Given the description of an element on the screen output the (x, y) to click on. 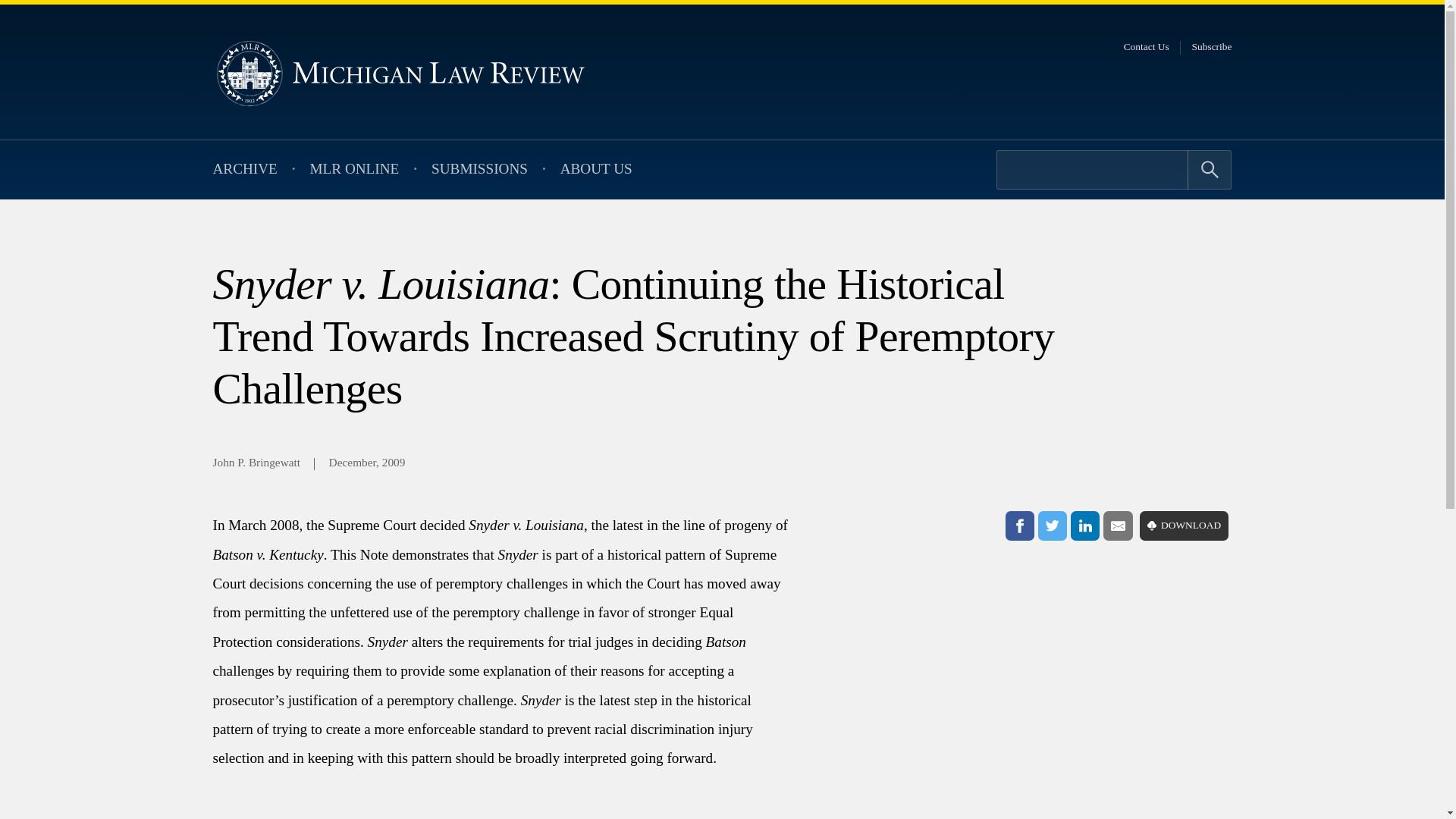
MLR ONLINE (354, 169)
Twitter (1052, 525)
Facebook (1019, 525)
DOWNLOAD (1184, 525)
ABOUT US (595, 169)
E-Mail (1117, 525)
Contact Us (1146, 46)
Search (1209, 169)
ARCHIVE (244, 169)
LinkedIn (1084, 525)
SUBMISSIONS (478, 169)
Subscribe (1211, 46)
Search (1209, 169)
